Given the description of an element on the screen output the (x, y) to click on. 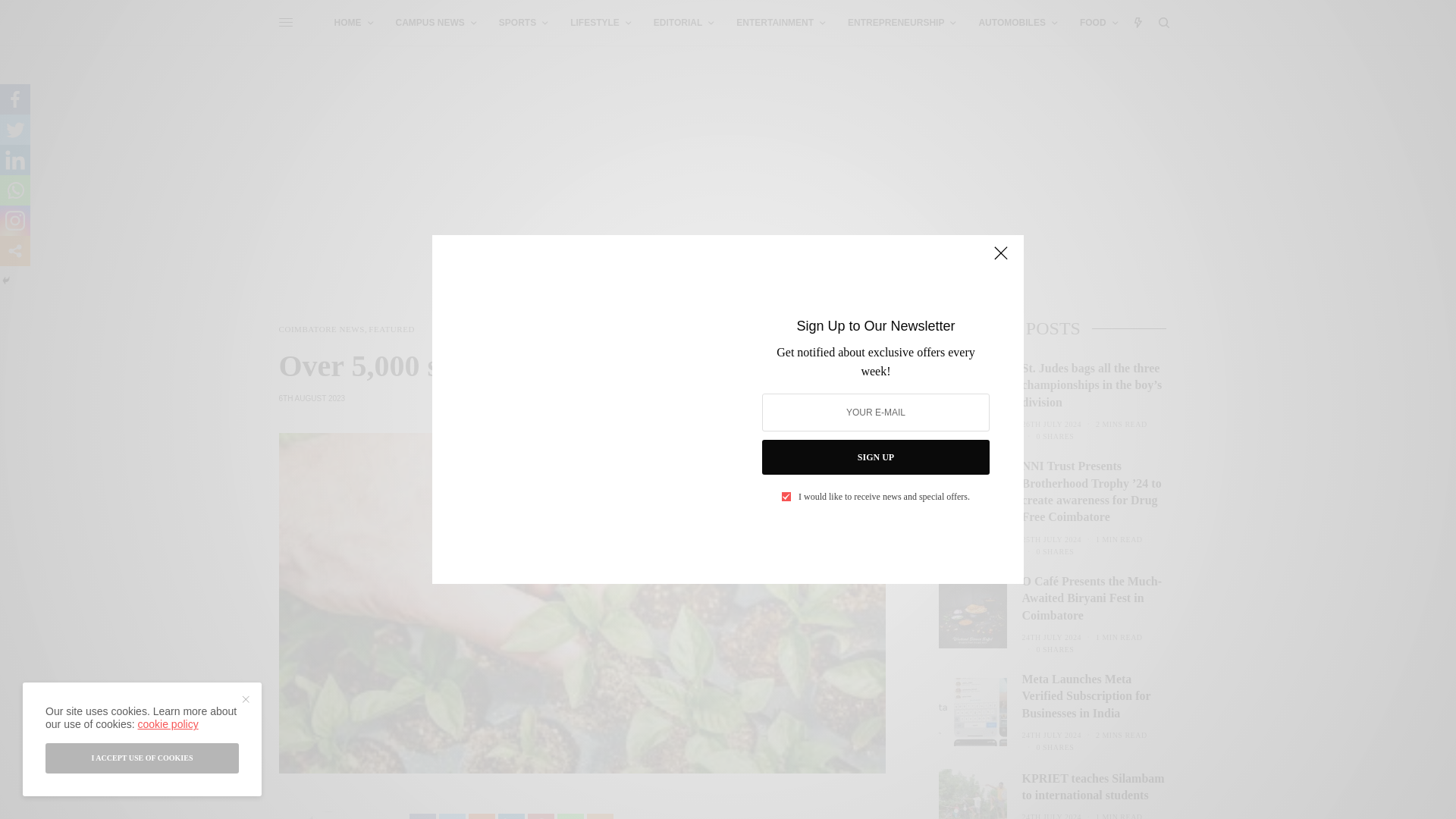
CAMPUS NEWS (436, 22)
SPORTS (523, 22)
SIGN UP (875, 457)
